Given the description of an element on the screen output the (x, y) to click on. 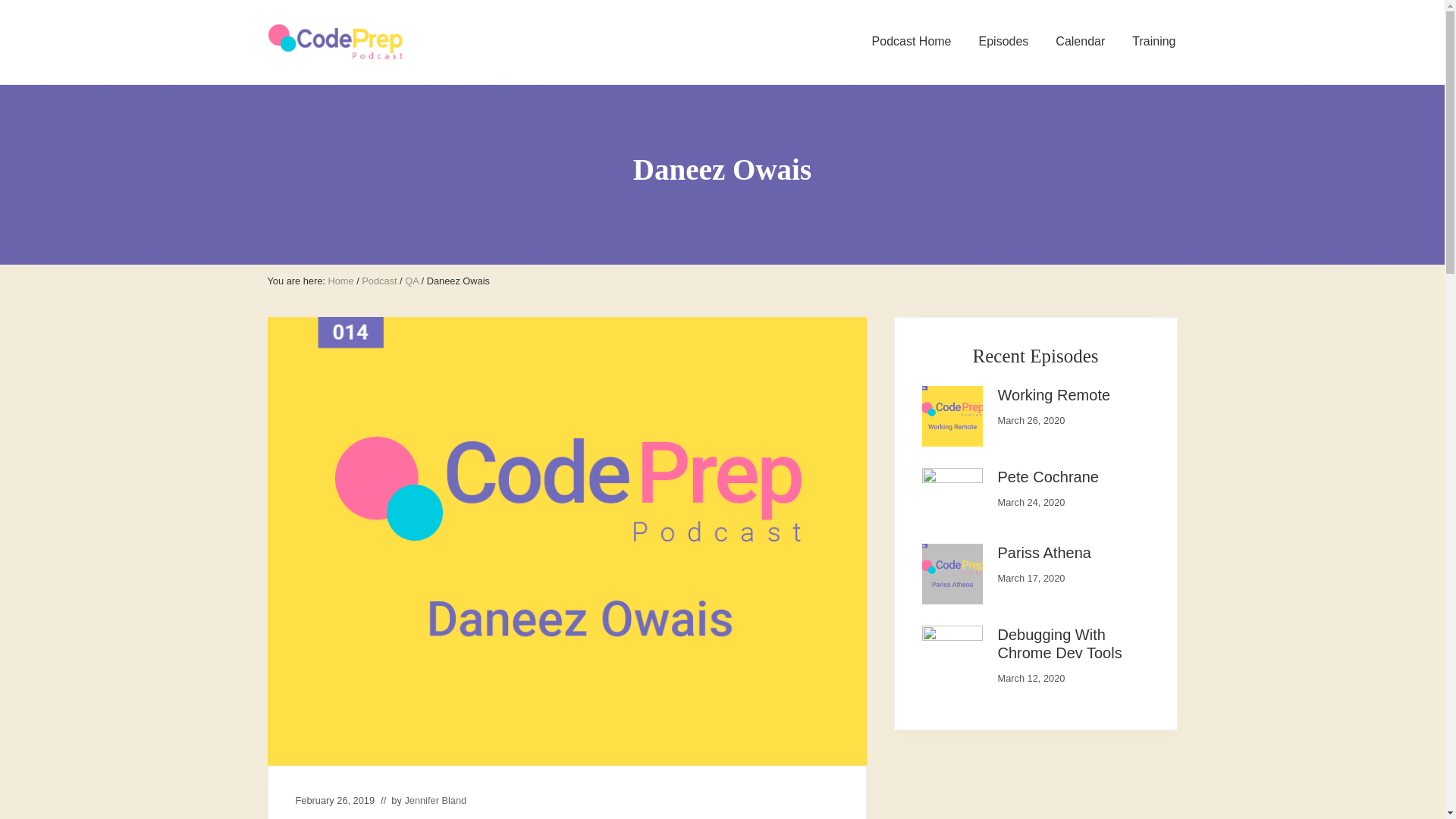
Jennifer Bland (434, 799)
Podcast (378, 280)
Home (340, 280)
Training (1153, 41)
Episodes (1003, 41)
Calendar (1079, 41)
QA (411, 280)
Podcast Home (911, 41)
